Given the description of an element on the screen output the (x, y) to click on. 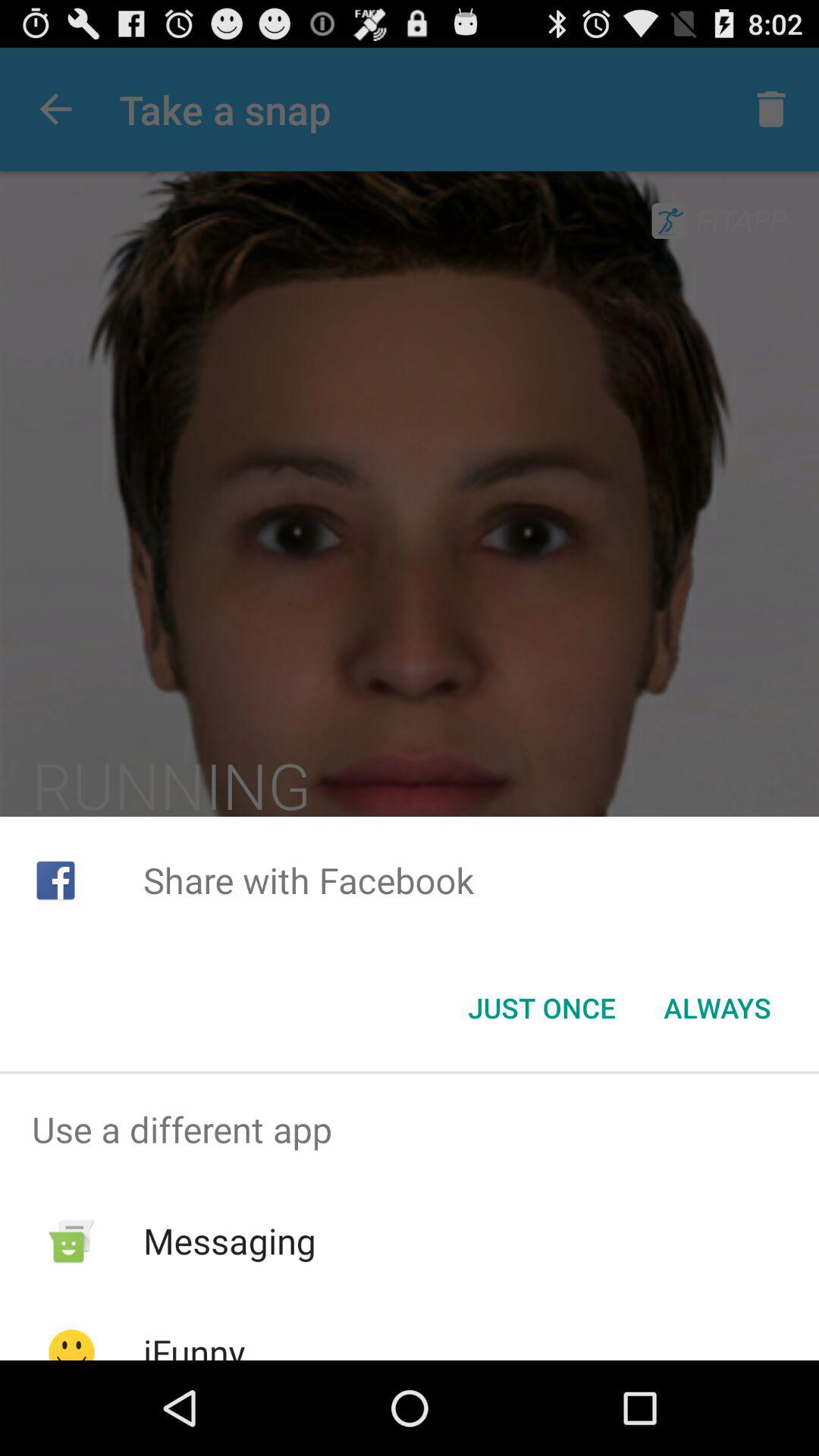
tap item at the bottom right corner (717, 1007)
